Given the description of an element on the screen output the (x, y) to click on. 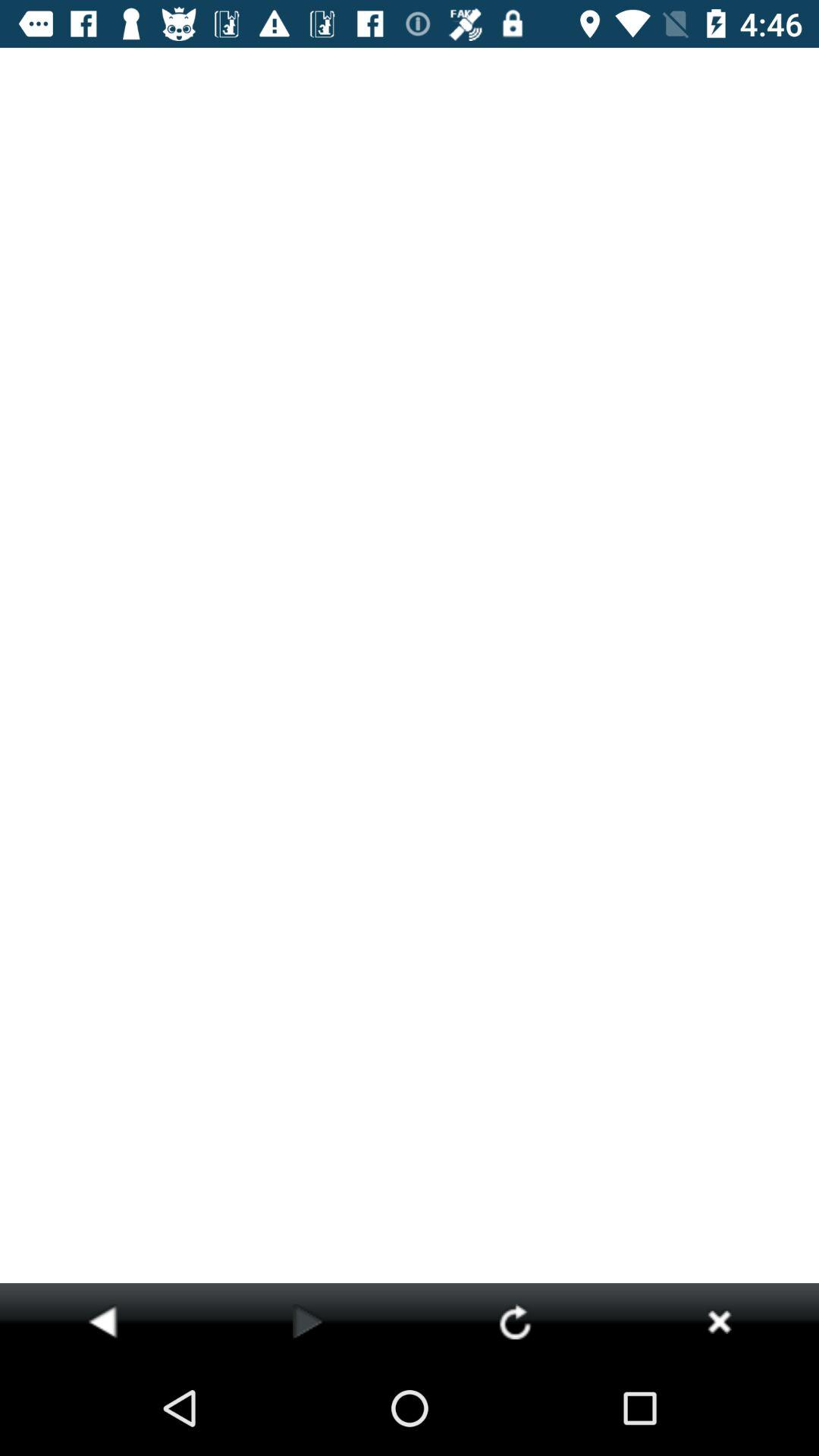
stop loading page (719, 1321)
